Given the description of an element on the screen output the (x, y) to click on. 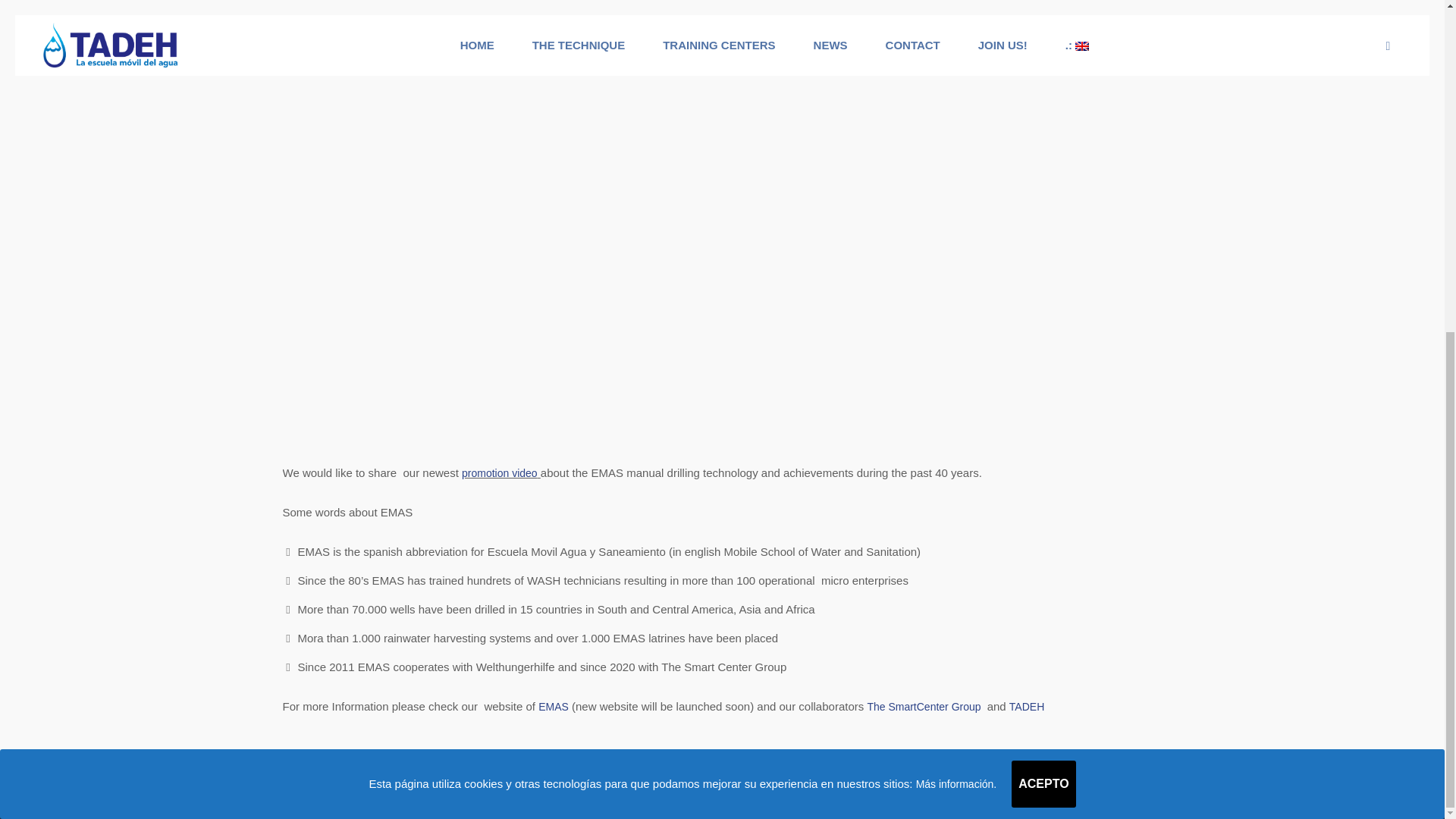
EMAS (553, 706)
The SmartCenter Group  (925, 706)
Facebook (1096, 788)
Vimeo (1078, 788)
Youtube (1059, 788)
Instagram (1150, 788)
TADEH (1026, 706)
ACEPTO (1043, 231)
Mail (1114, 788)
Twitter (1132, 788)
promotion video (499, 472)
